Given the description of an element on the screen output the (x, y) to click on. 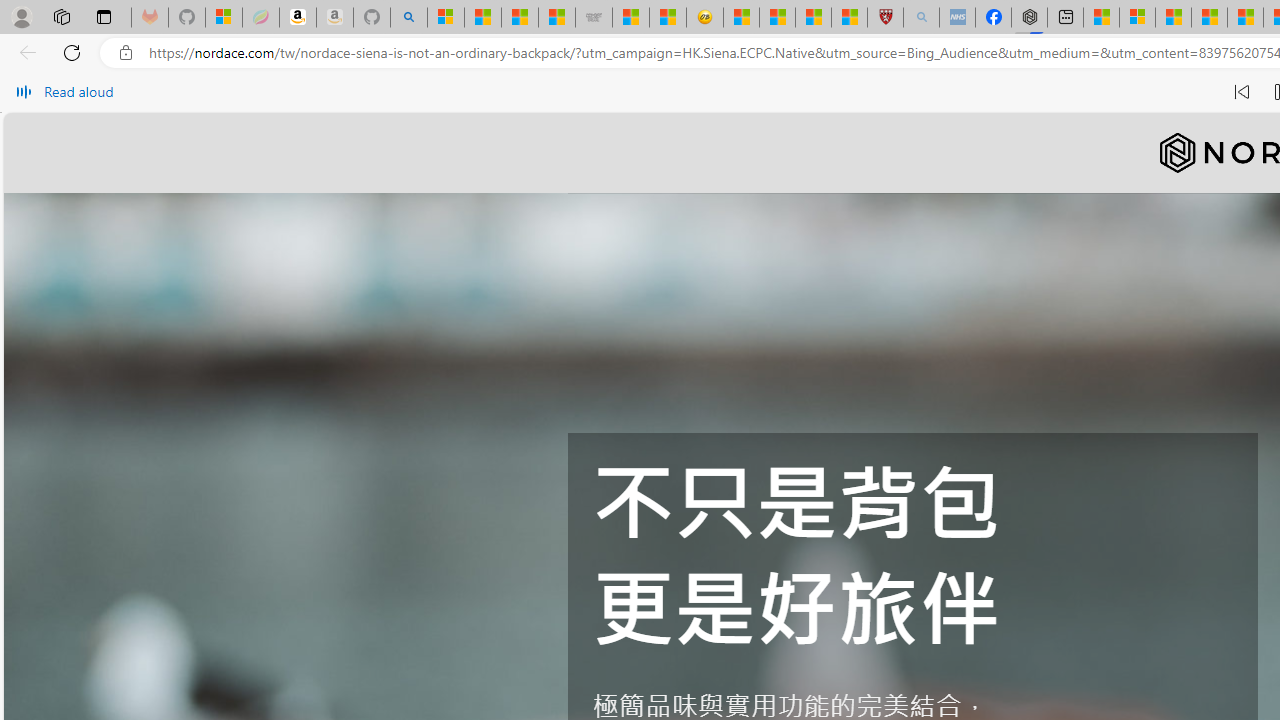
list of asthma inhalers uk - Search - Sleeping (921, 17)
